Given the description of an element on the screen output the (x, y) to click on. 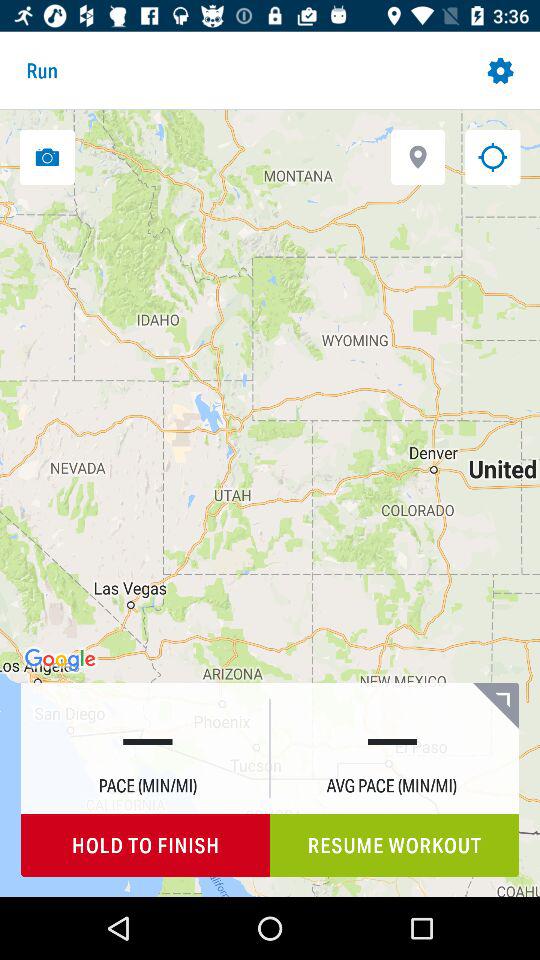
this is a map (492, 156)
